Given the description of an element on the screen output the (x, y) to click on. 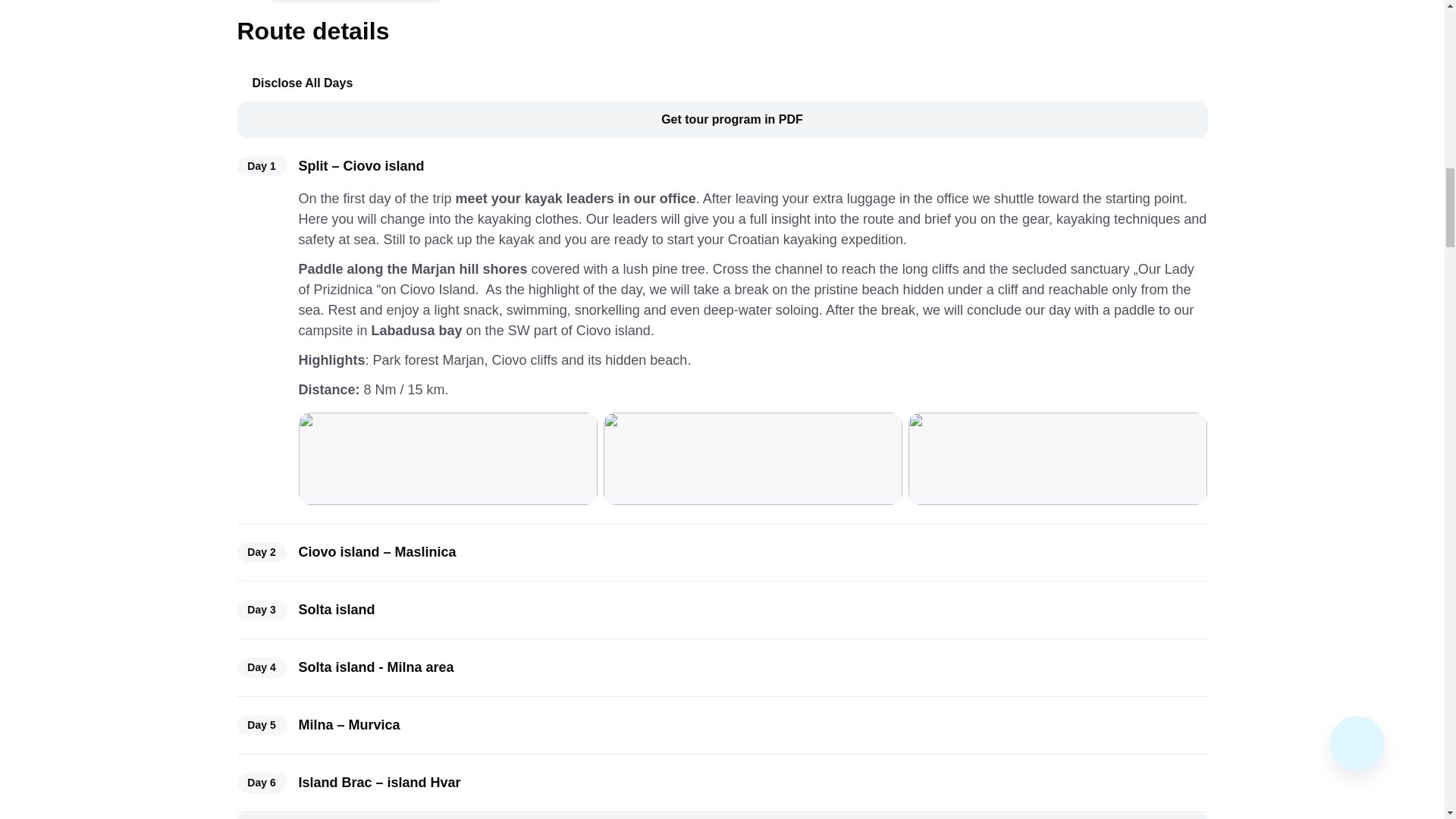
Disclose All Days (301, 83)
Diving and snorkeling (355, 1)
Get tour program in PDF (721, 119)
